Given the description of an element on the screen output the (x, y) to click on. 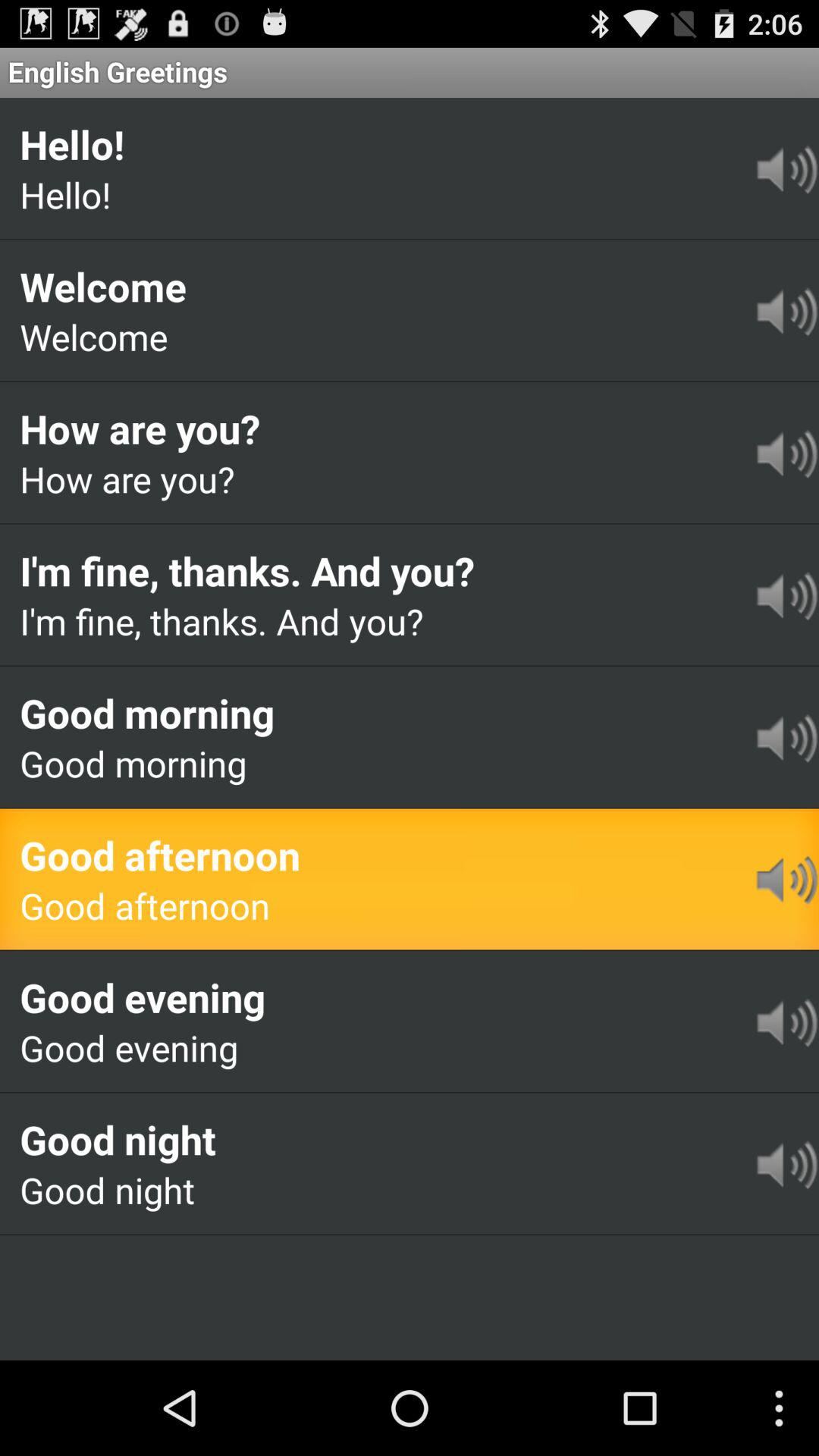
choose the app below the good night icon (98, 1257)
